Given the description of an element on the screen output the (x, y) to click on. 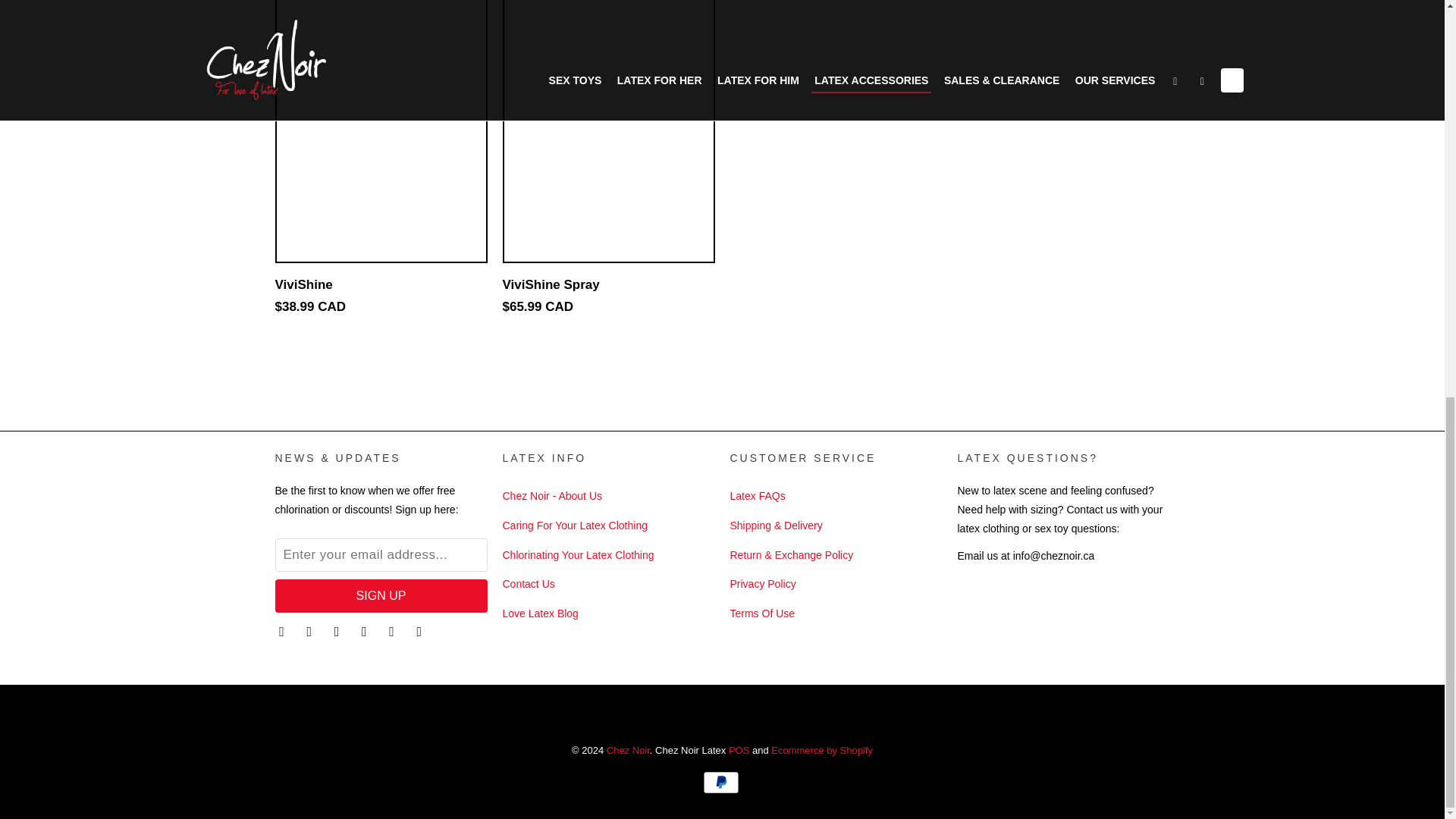
Sign Up (380, 595)
Email Chez Noir (420, 630)
Chez Noir on Twitter (283, 630)
Chez Noir on Pinterest (365, 630)
Chez Noir on YouTube (338, 630)
Chez Noir on Instagram (392, 630)
Chez Noir on Facebook (310, 630)
PayPal (721, 782)
